Given the description of an element on the screen output the (x, y) to click on. 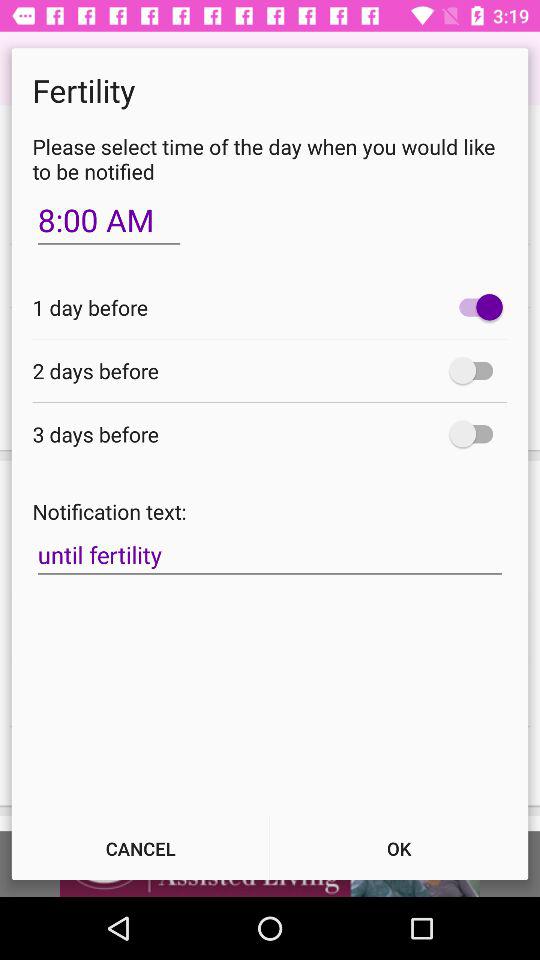
launch item above the notification text: (476, 433)
